Given the description of an element on the screen output the (x, y) to click on. 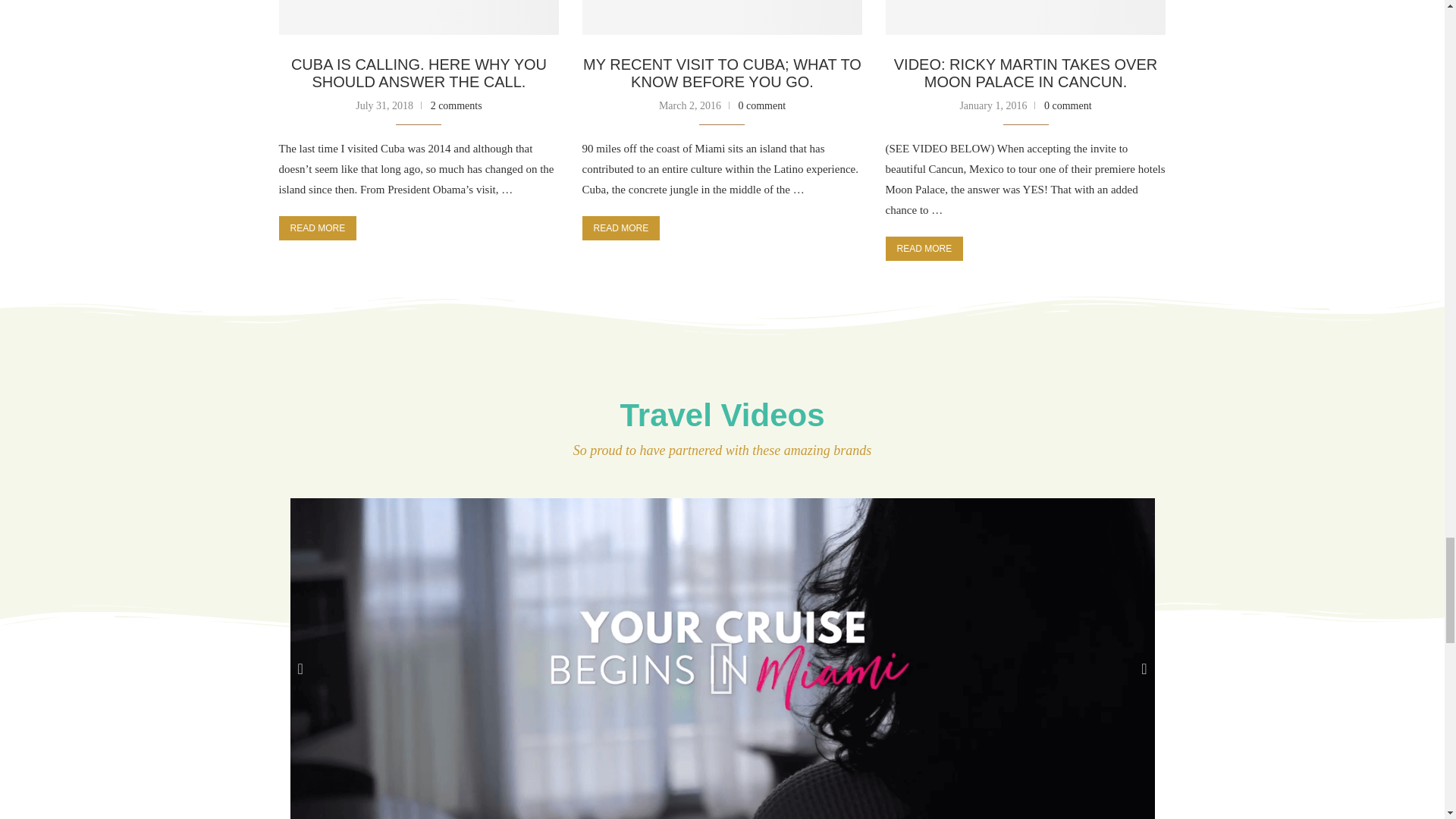
My recent visit to Cuba; what to know before you go. (722, 18)
Cuba is calling. Here why you should answer the call. (419, 18)
Video: Ricky Martin takes over Moon Palace in Cancun. (1025, 18)
